Given the description of an element on the screen output the (x, y) to click on. 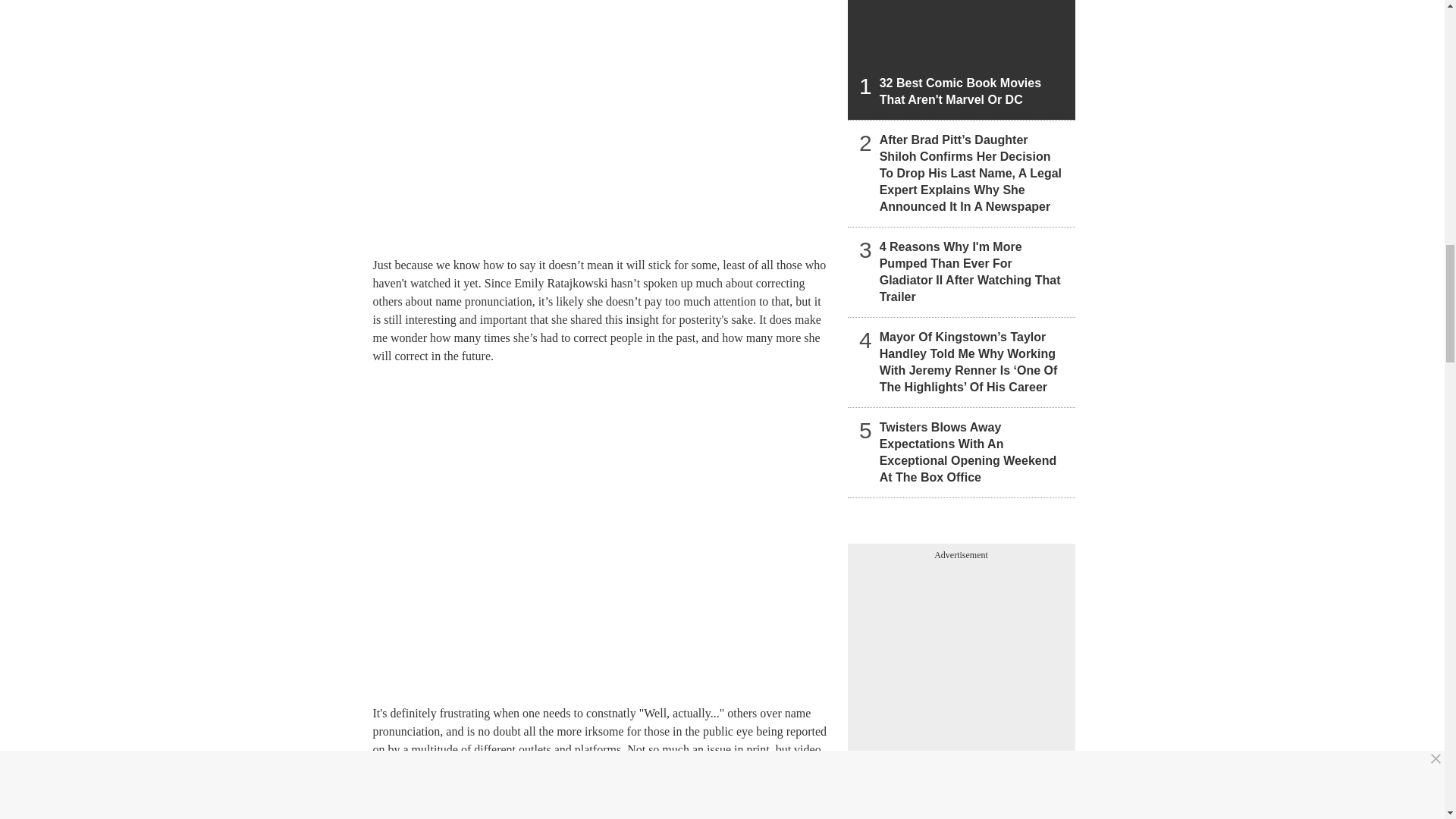
32 Best Comic Book Movies That Aren't Marvel Or DC (961, 59)
